Given the description of an element on the screen output the (x, y) to click on. 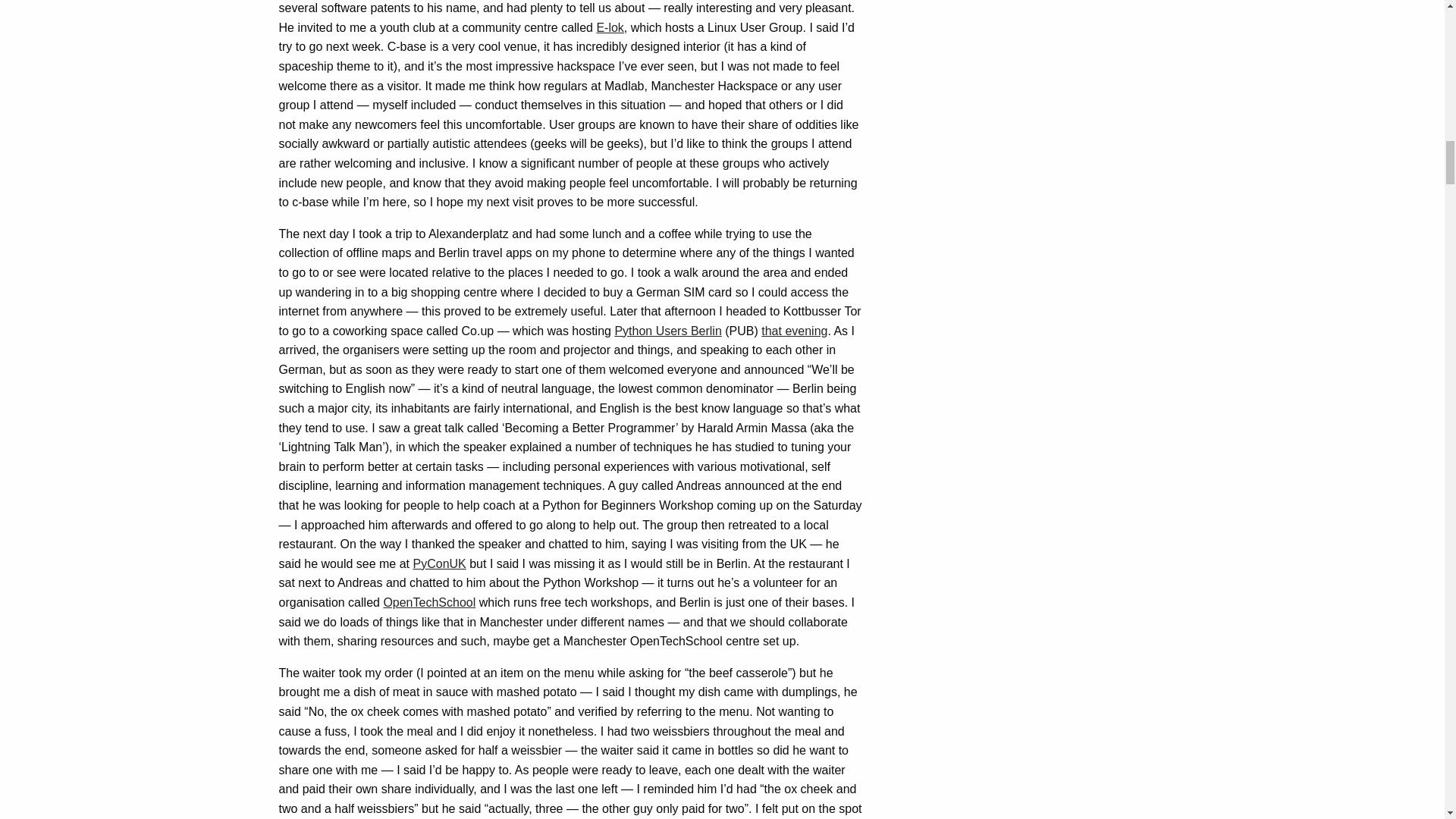
E-lok (609, 27)
Python Users Berlin (667, 330)
PyConUK (438, 563)
that evening (794, 330)
OpenTechSchool (429, 602)
